Given the description of an element on the screen output the (x, y) to click on. 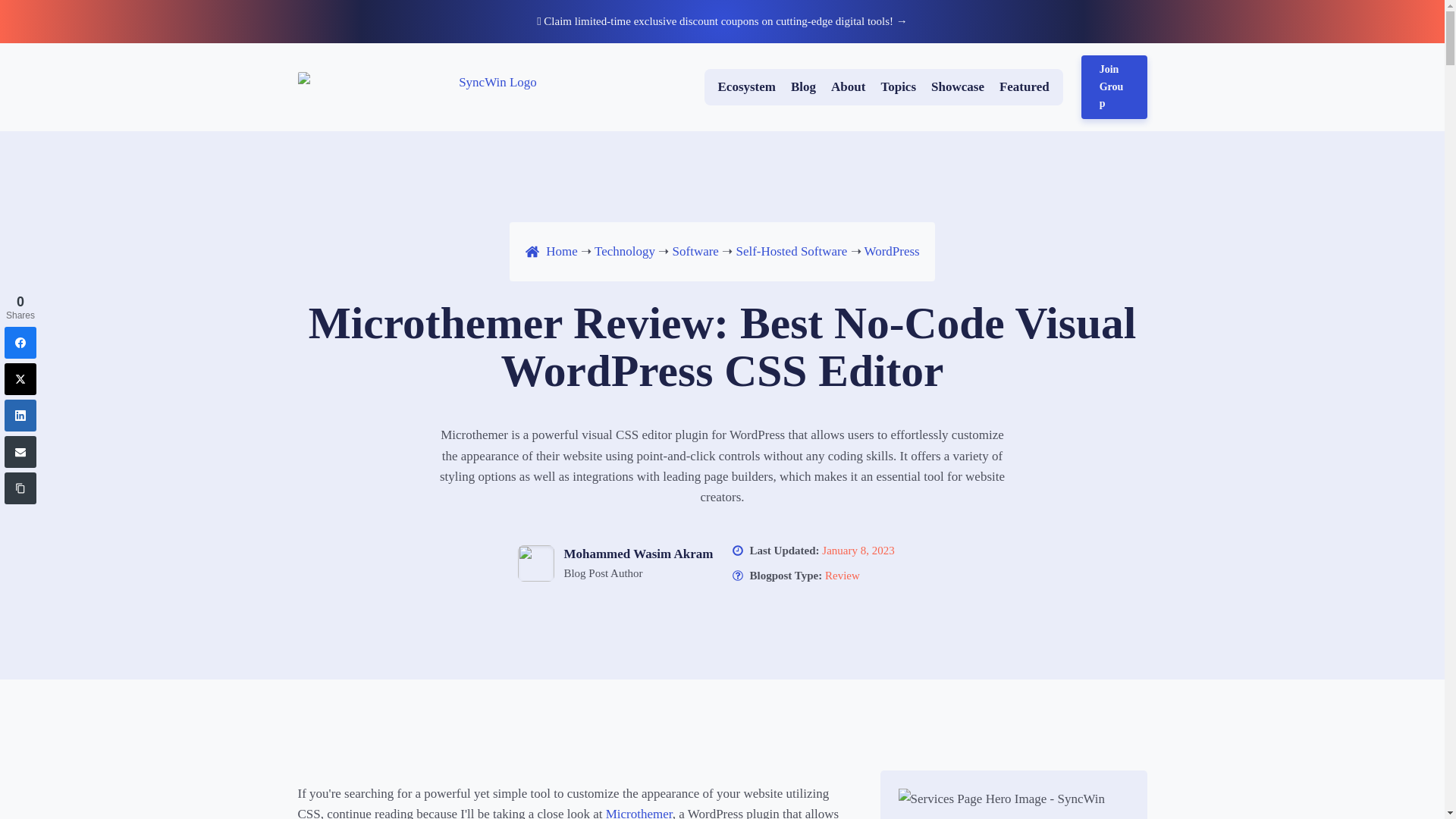
Ecosystem (745, 86)
Topics (897, 86)
Blog (802, 86)
About (847, 86)
